Given the description of an element on the screen output the (x, y) to click on. 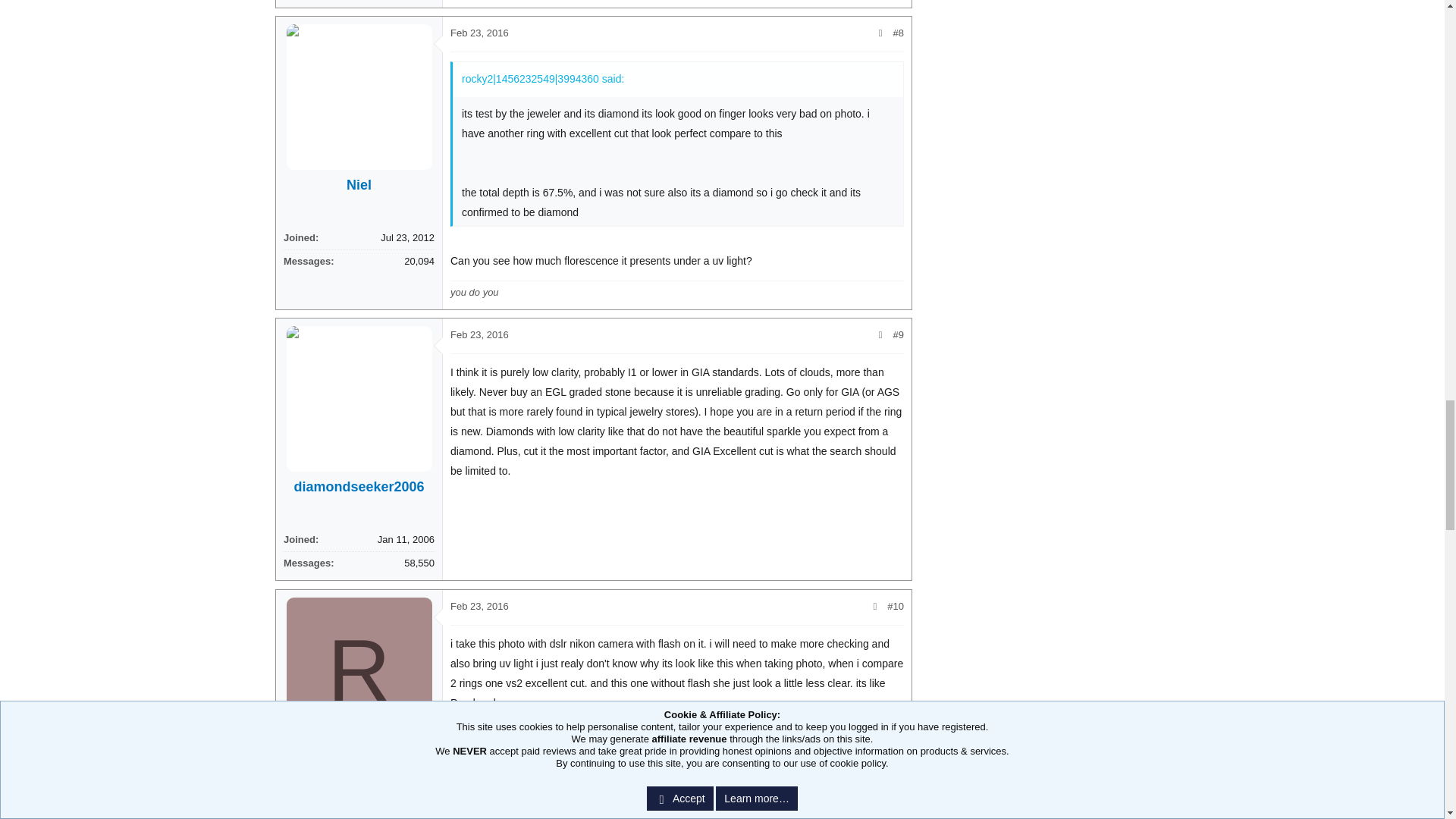
Feb 23, 2016 at 11:25 AM (478, 505)
Feb 23, 2016 at 11:09 AM (478, 32)
Feb 23, 2016 at 11:23 AM (478, 269)
Feb 23, 2016 at 11:28 AM (478, 742)
